Given the description of an element on the screen output the (x, y) to click on. 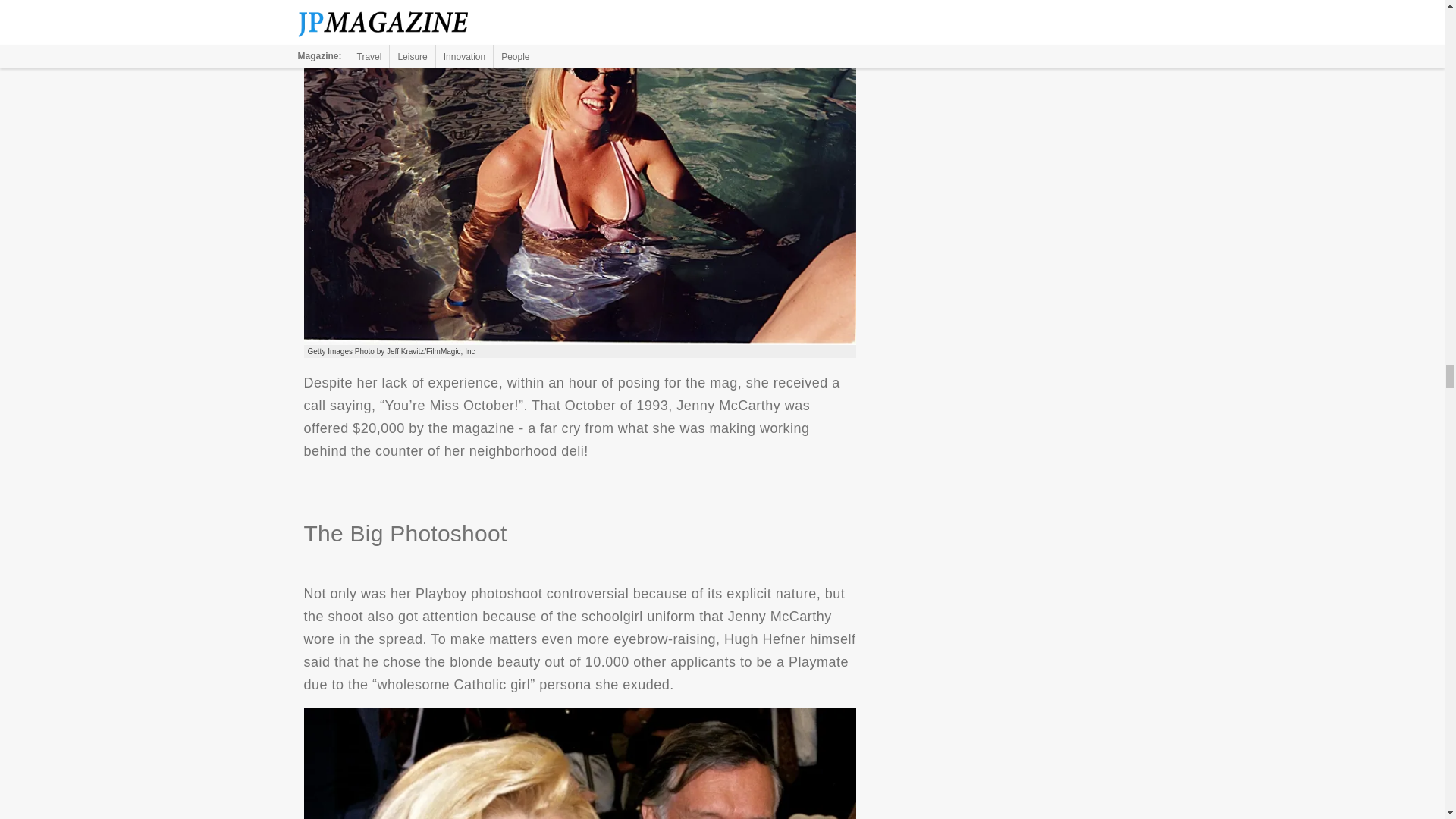
The Big Photoshoot (579, 763)
